Given the description of an element on the screen output the (x, y) to click on. 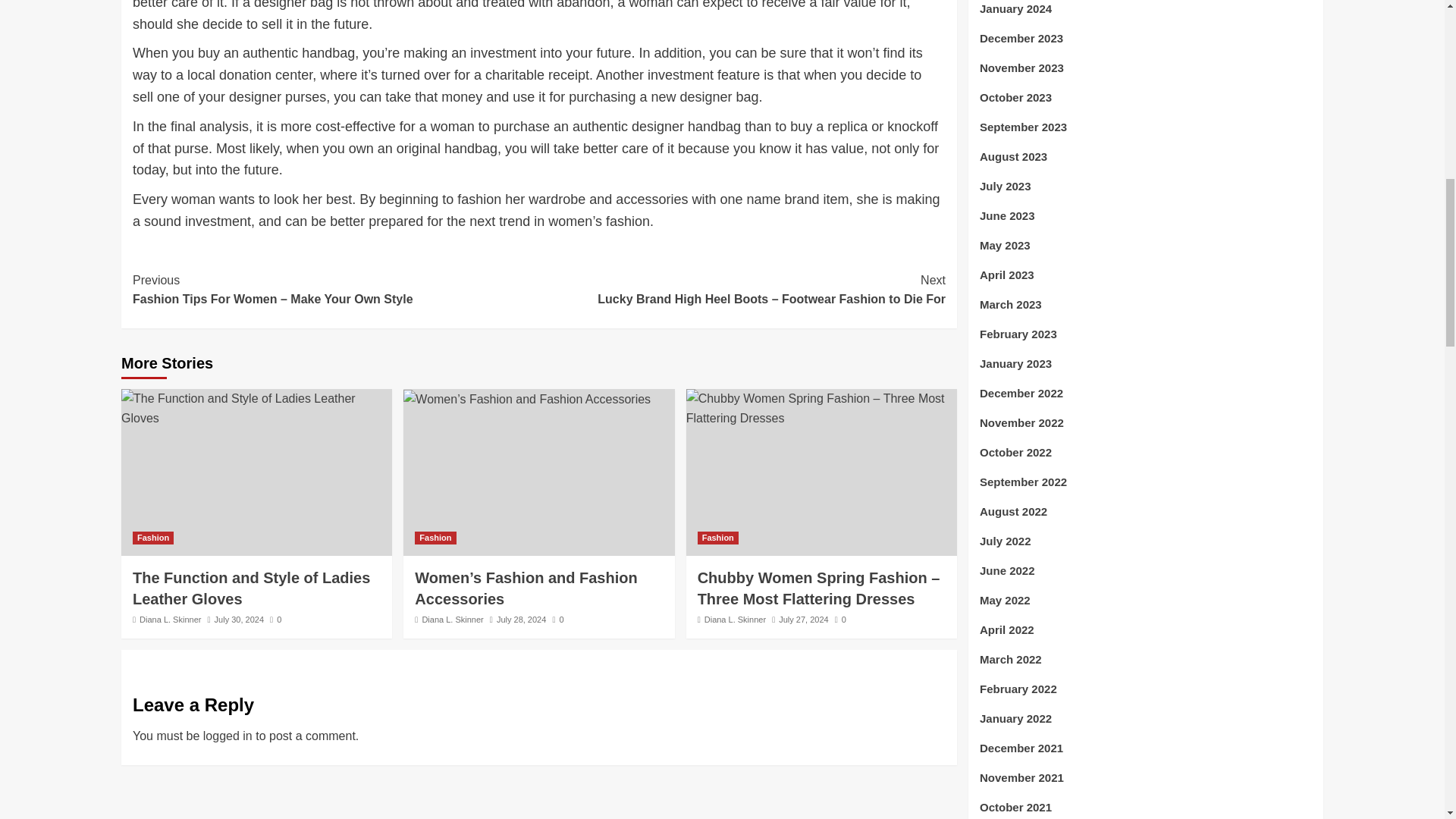
Fashion (152, 537)
Fashion (717, 537)
The Function and Style of Ladies Leather Gloves (250, 588)
July 28, 2024 (521, 619)
Diana L. Skinner (452, 619)
July 27, 2024 (803, 619)
0 (557, 619)
0 (275, 619)
logged in (227, 735)
Diana L. Skinner (734, 619)
0 (839, 619)
Diana L. Skinner (169, 619)
Fashion (434, 537)
July 30, 2024 (238, 619)
The Function and Style of Ladies Leather Gloves (255, 408)
